Given the description of an element on the screen output the (x, y) to click on. 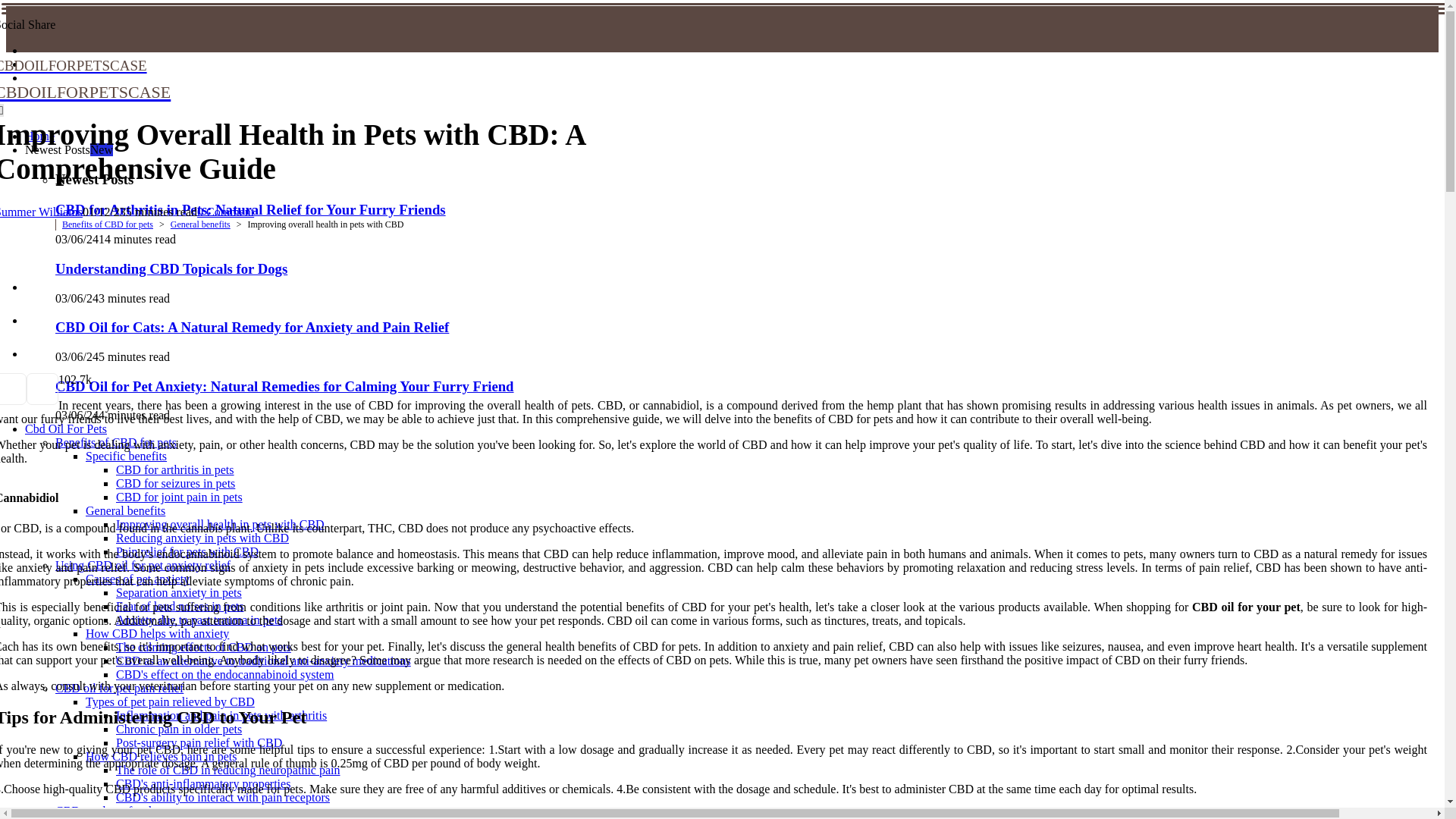
Posts by Summer Williams (41, 211)
General benefits (125, 510)
Improving overall health in pets with CBD (220, 523)
Post-surgery pain relief with CBD (199, 742)
CBD for arthritis in pets (175, 469)
CBD for seizures in pets (175, 482)
How CBD helps with anxiety (156, 633)
The role of CBD in reducing neuropathic pain (227, 769)
Pain relief for pets with CBD (187, 551)
CBD oil for pet pain relief (119, 687)
Cbd Oil For Pets (65, 428)
Specific benefits (126, 455)
